Given the description of an element on the screen output the (x, y) to click on. 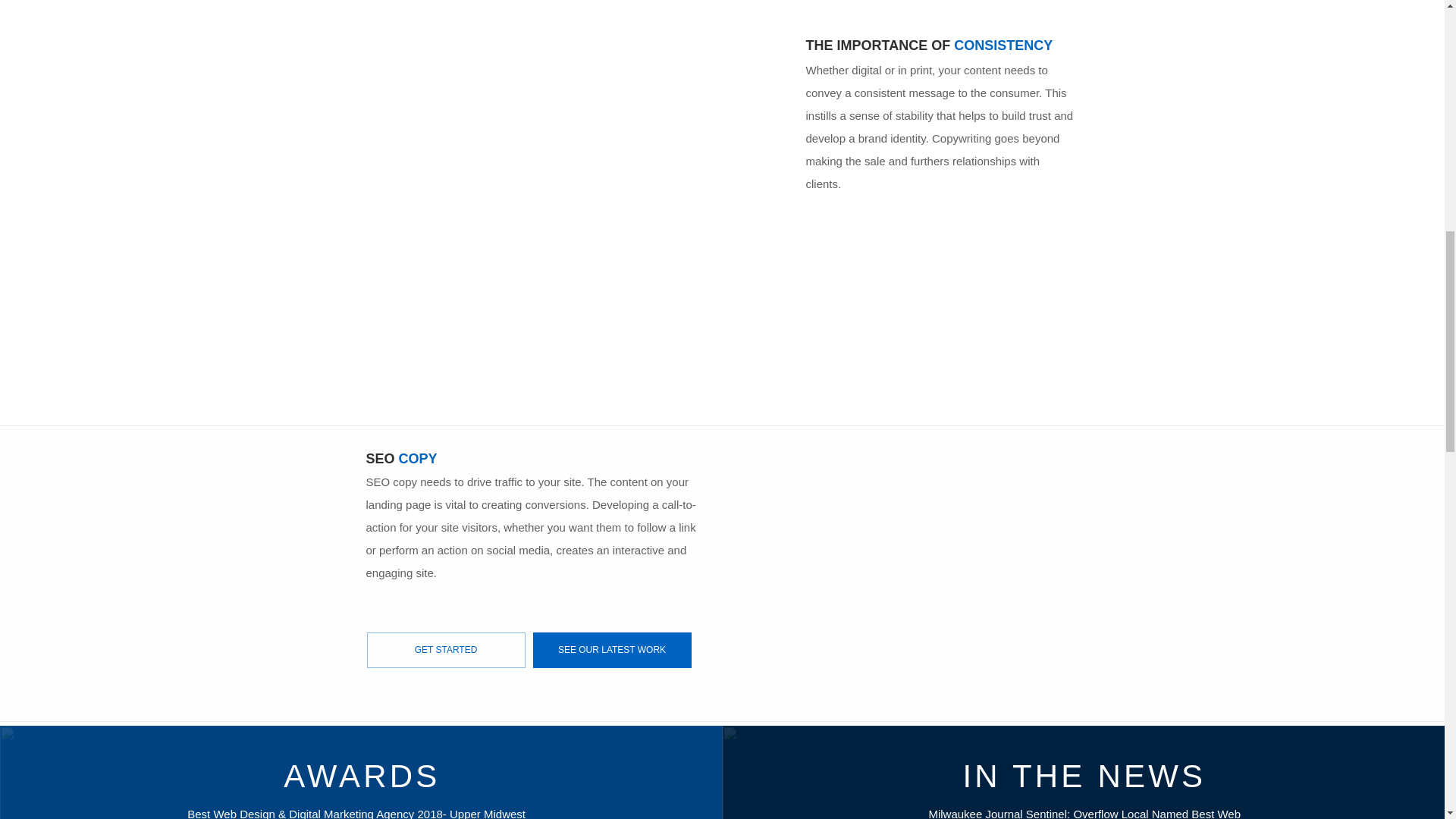
SEE OUR LATEST WORK (611, 650)
GET STARTED (445, 650)
Milwaukee Journal Sentinel: (1000, 813)
